Given the description of an element on the screen output the (x, y) to click on. 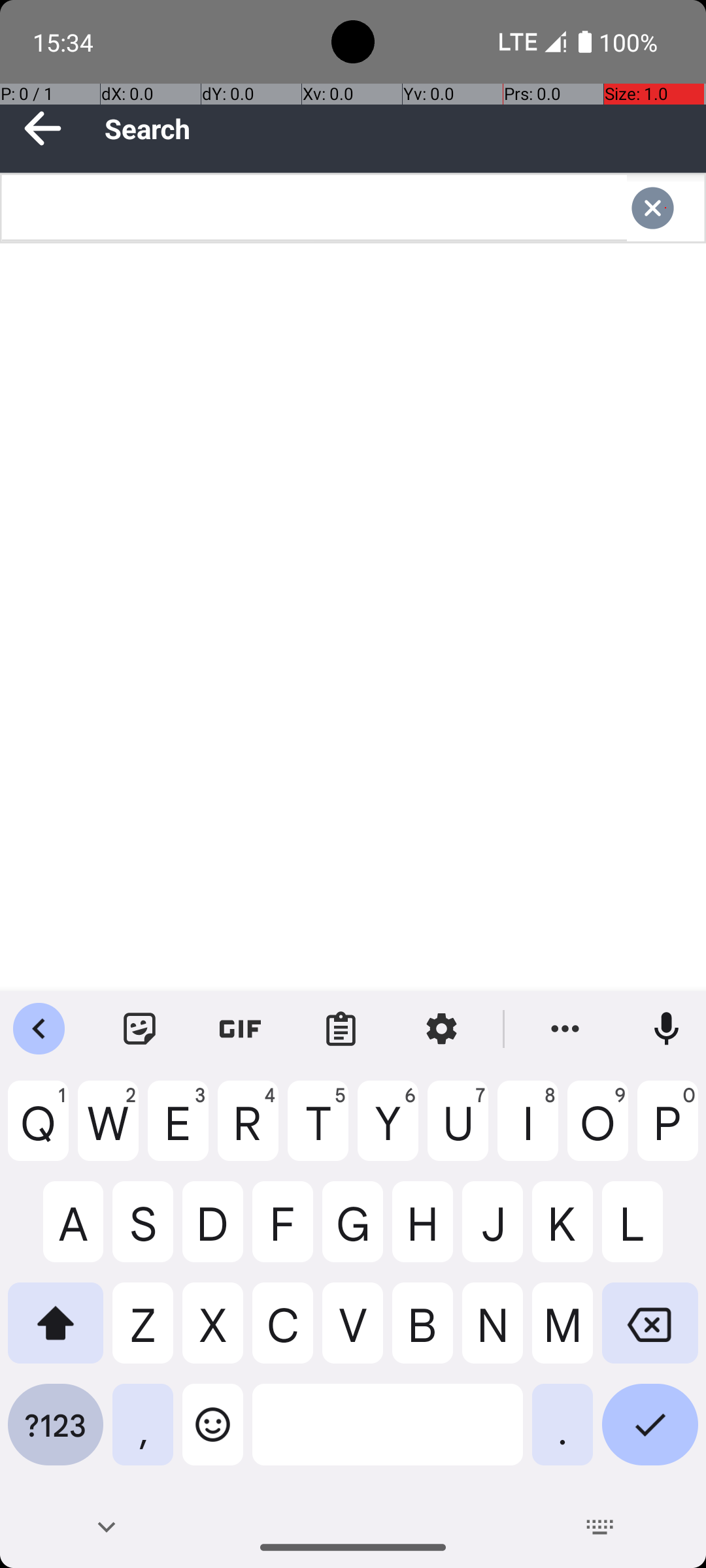
 Element type: android.widget.TextView (665, 207)
